Given the description of an element on the screen output the (x, y) to click on. 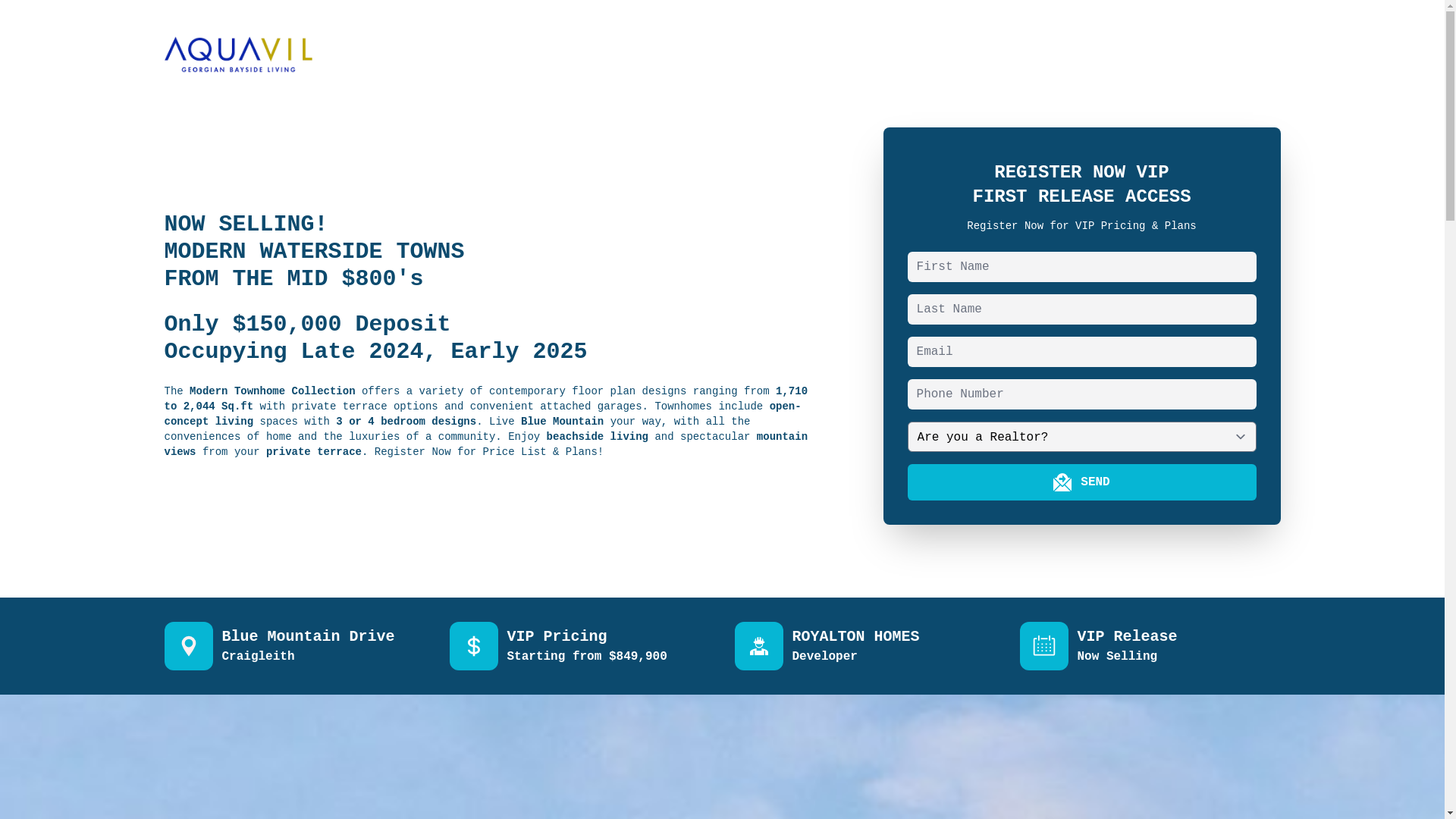
SEND Element type: text (1081, 482)
